Given the description of an element on the screen output the (x, y) to click on. 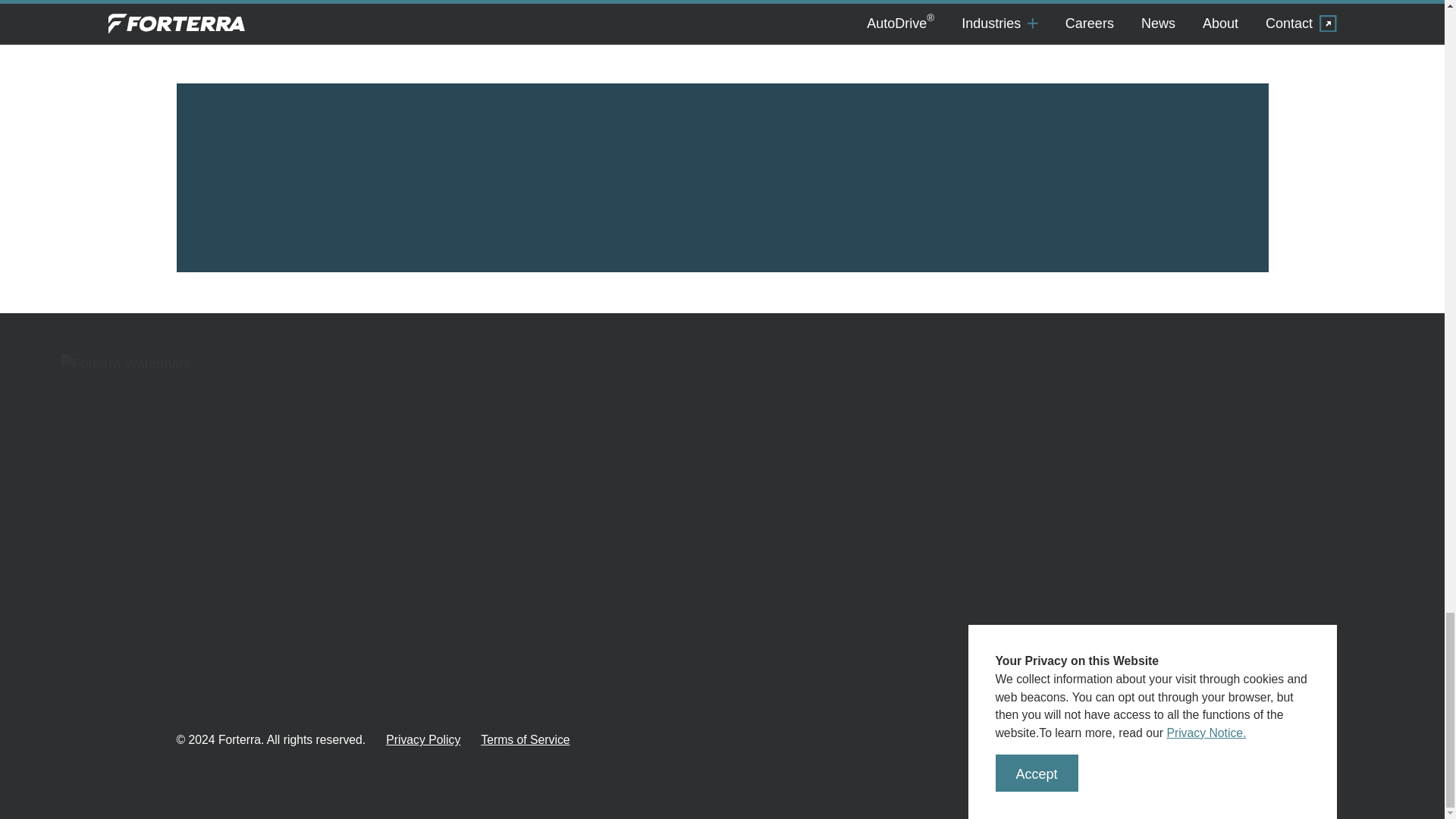
Terms of Service (524, 740)
Privacy Policy (422, 740)
